Given the description of an element on the screen output the (x, y) to click on. 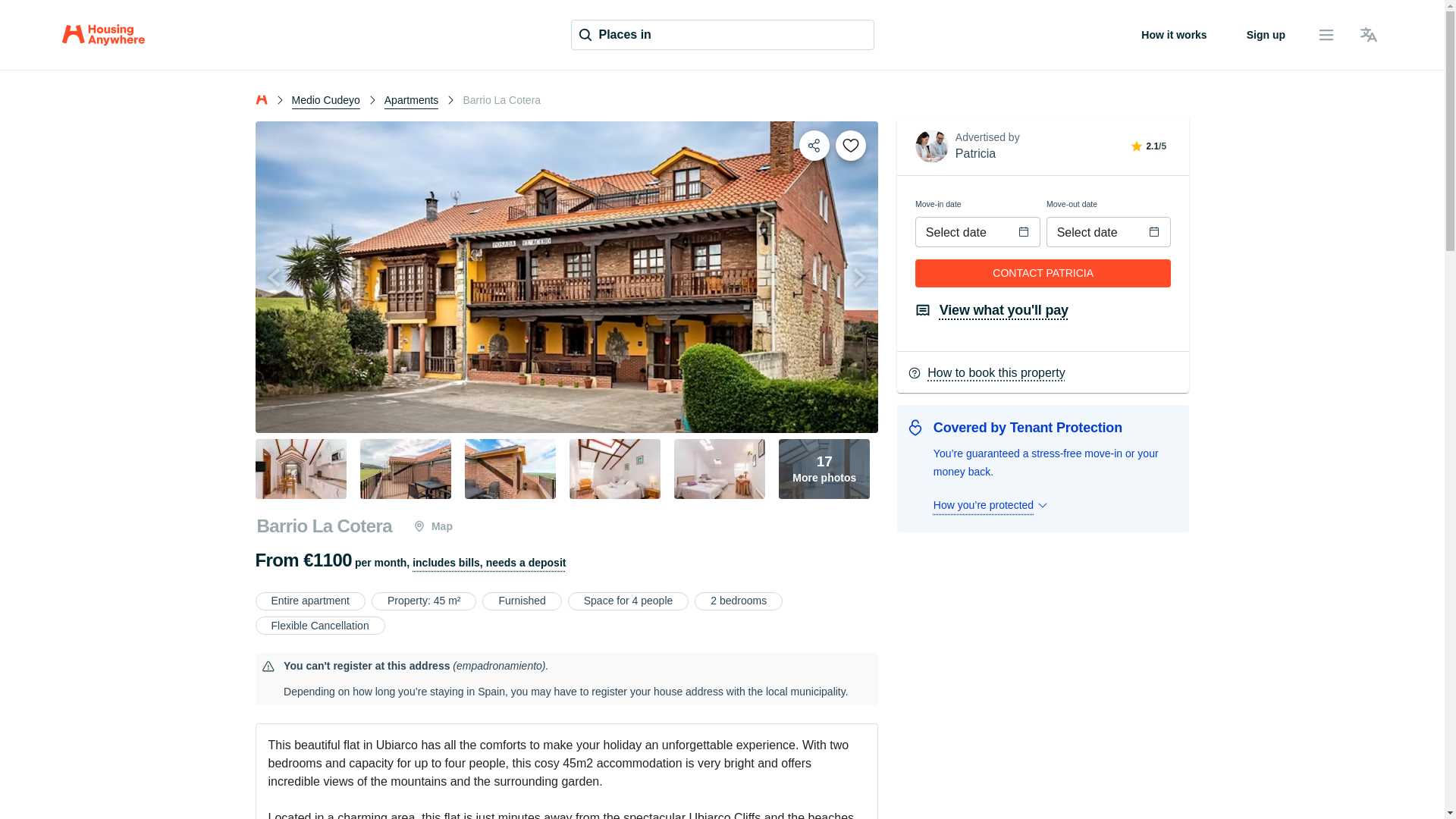
Favourite (850, 145)
Medio Cudeyo (325, 99)
Share (823, 468)
View what you'll pay (814, 145)
Sign up (991, 310)
includes bills, needs a deposit (1265, 34)
How it works (489, 562)
Map (1173, 34)
Apartments (433, 526)
